Given the description of an element on the screen output the (x, y) to click on. 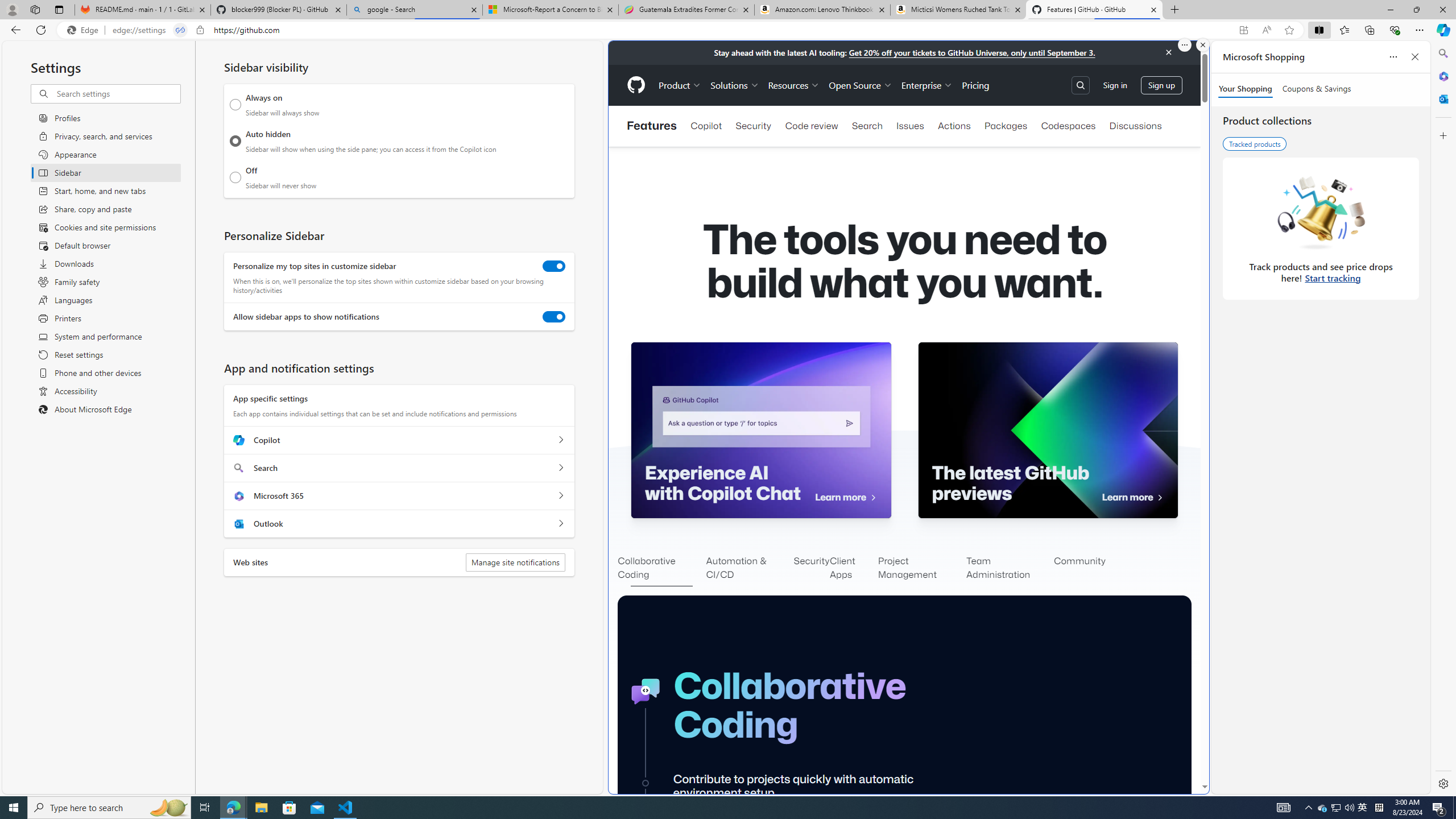
Microsoft-Report a Concern to Bing (550, 9)
Resources (793, 84)
Allow sidebar apps to show notifications (553, 316)
Copilot (706, 125)
App available. Install  (1243, 29)
Sign in (1115, 84)
